Given the description of an element on the screen output the (x, y) to click on. 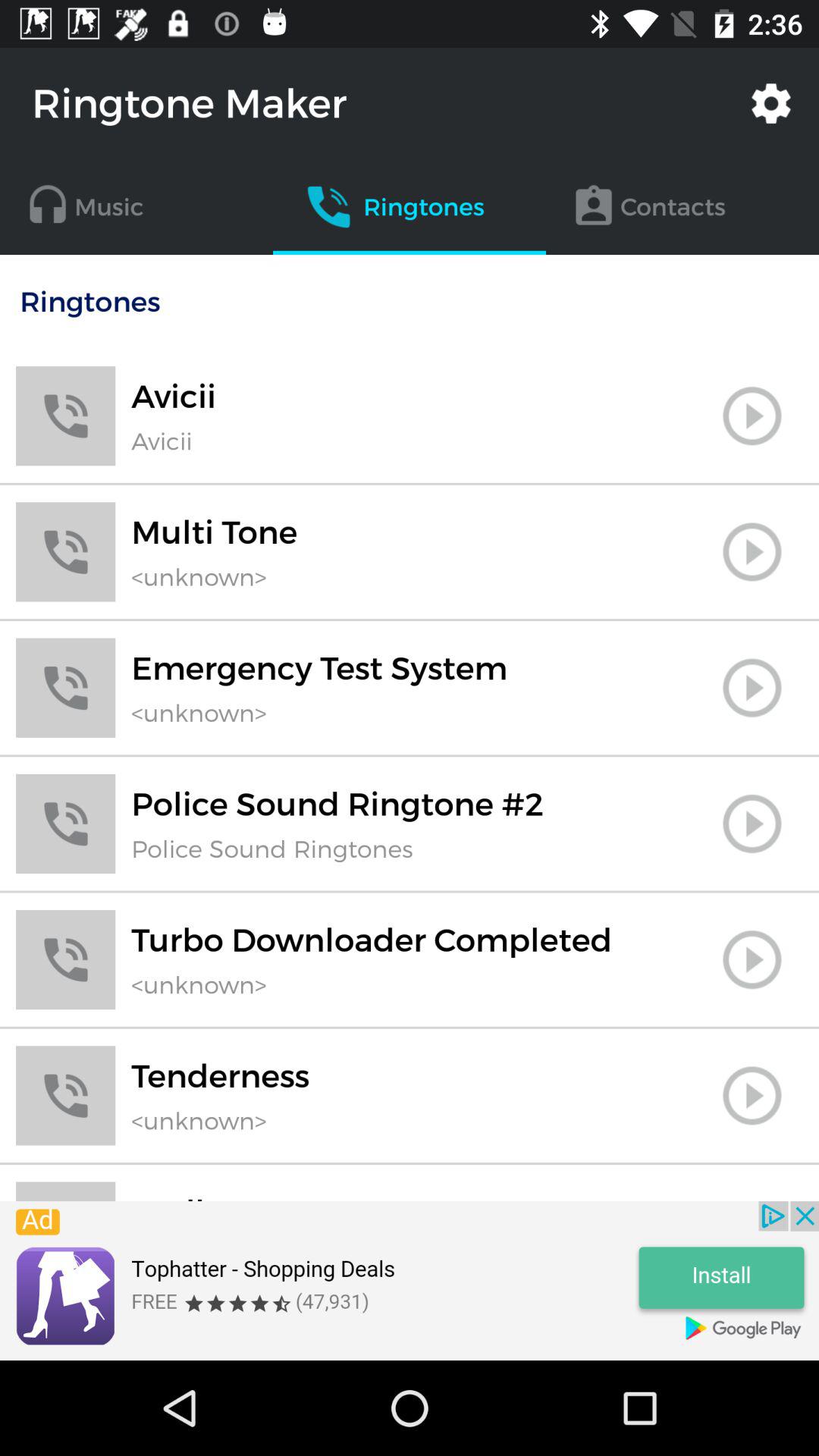
play multi tone (752, 551)
